Given the description of an element on the screen output the (x, y) to click on. 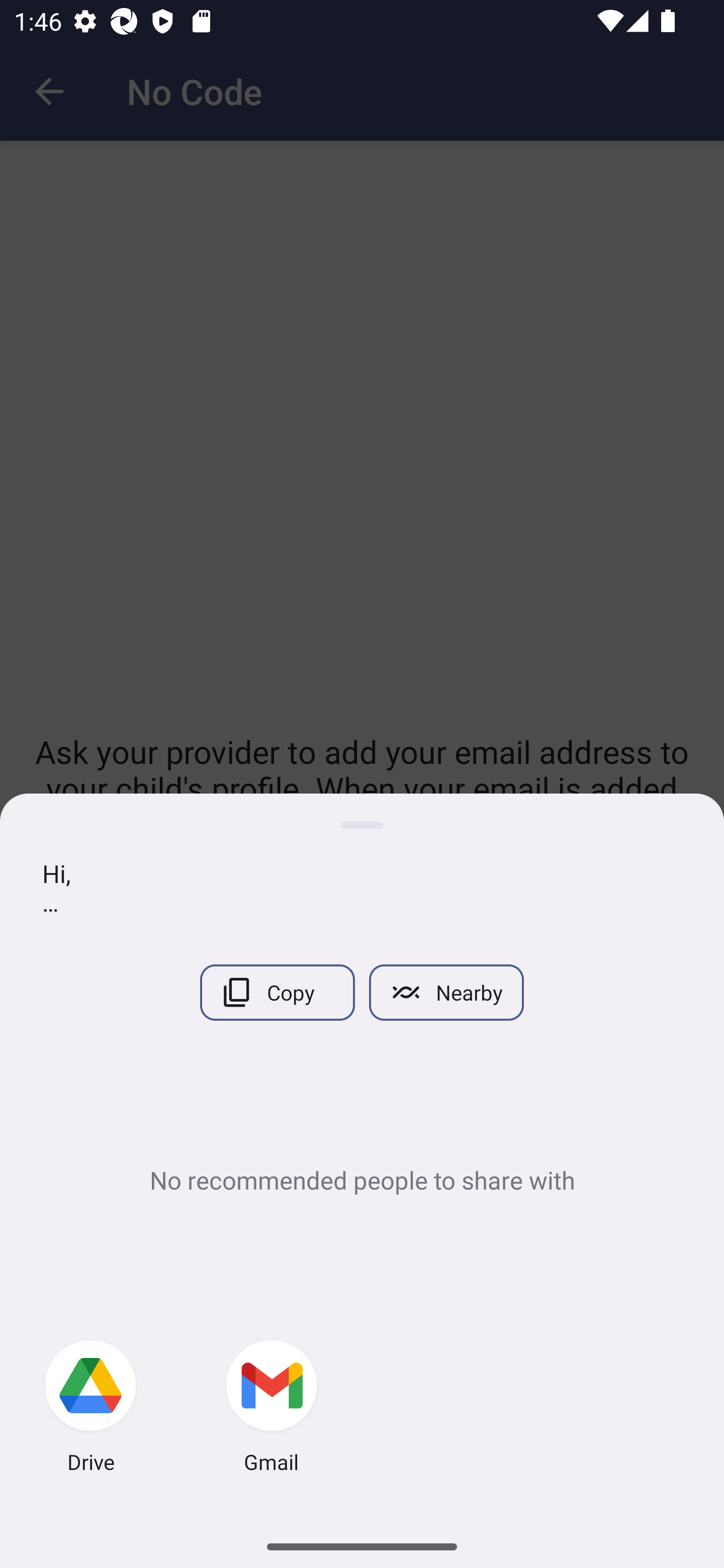
Copy (276, 992)
Nearby (446, 992)
Drive (90, 1409)
Gmail (271, 1409)
